Given the description of an element on the screen output the (x, y) to click on. 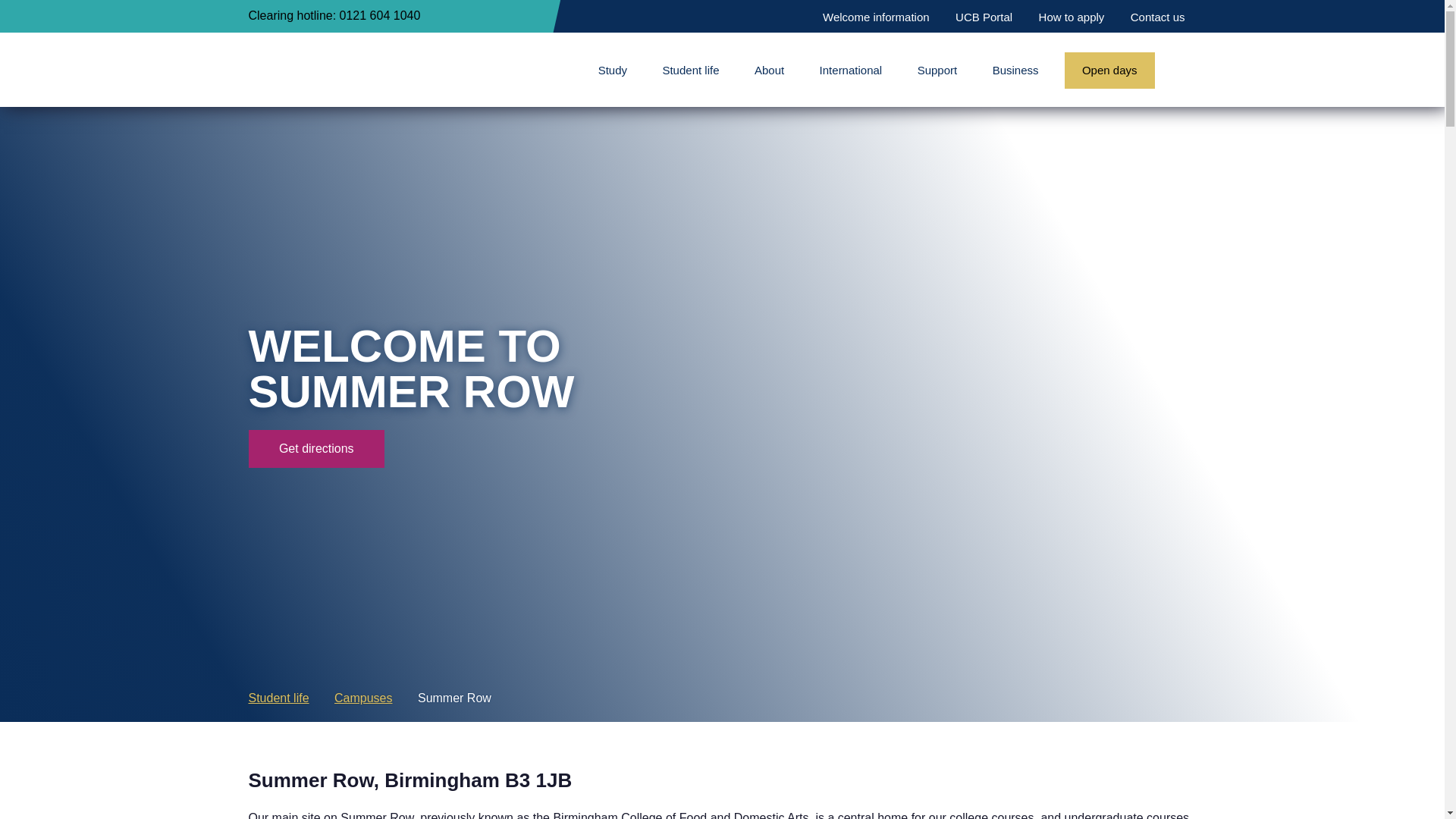
tel:01216041040 (399, 16)
Student life (697, 70)
How to apply (1071, 16)
Contact us (1157, 16)
UCB Portal (983, 16)
Home (332, 69)
Welcome information (875, 16)
Contact us (1157, 16)
How to apply (1071, 16)
UCB Portal (983, 16)
